Given the description of an element on the screen output the (x, y) to click on. 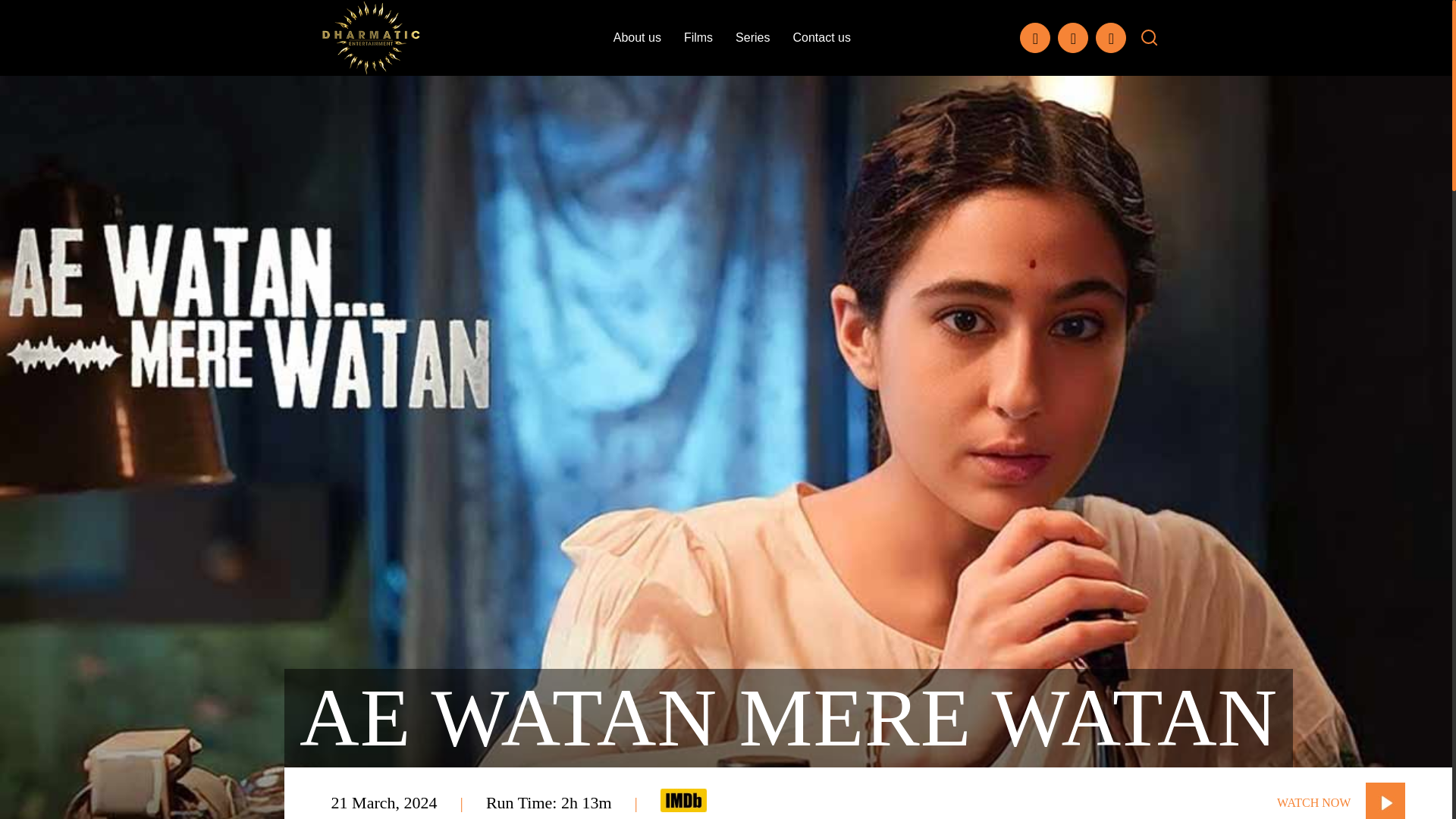
Films (697, 37)
About us (637, 37)
Series (751, 37)
Contact us (820, 37)
WATCH NOW (1340, 800)
